Given the description of an element on the screen output the (x, y) to click on. 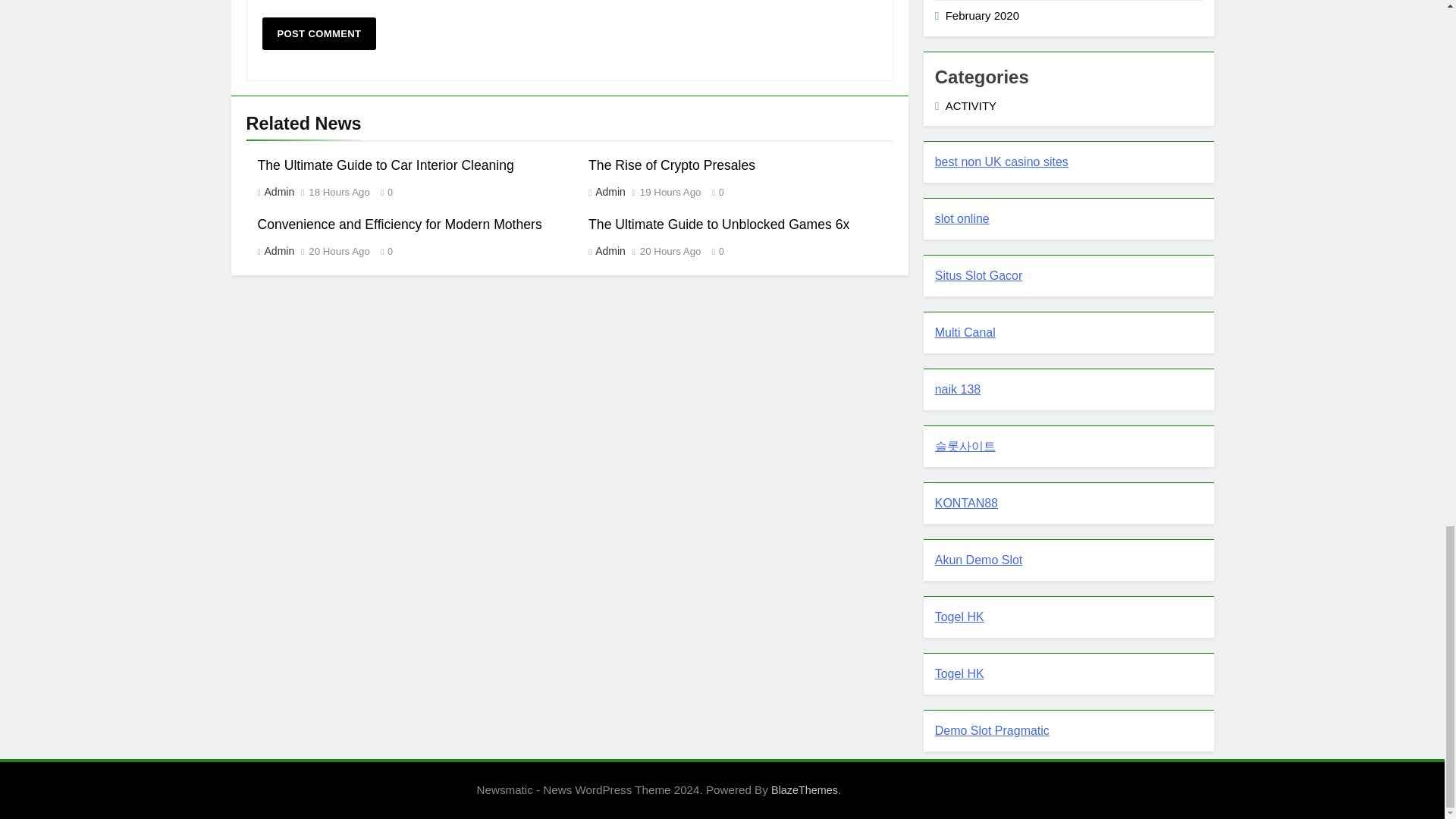
Post Comment (319, 33)
